Given the description of an element on the screen output the (x, y) to click on. 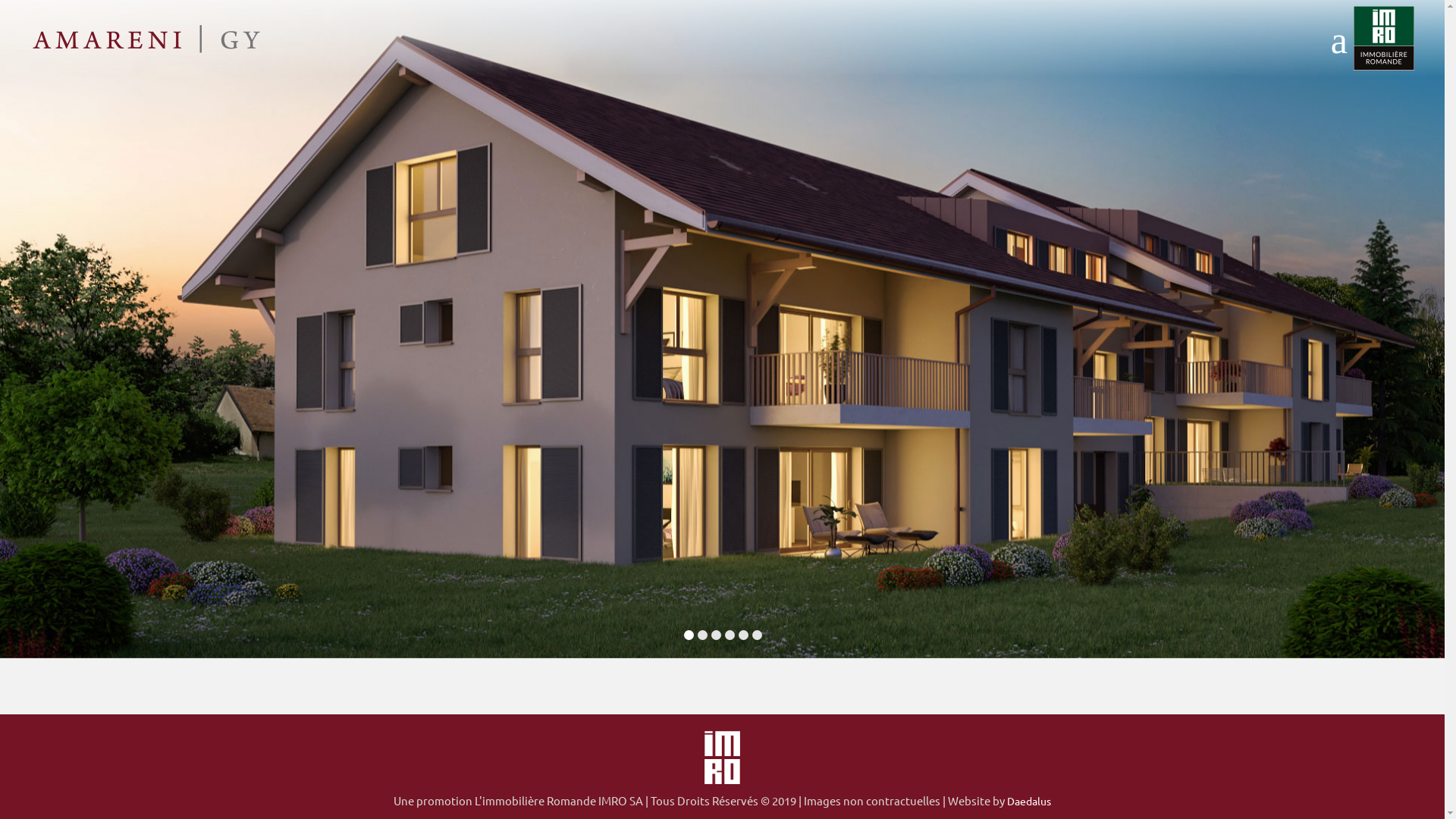
Daedalus Element type: text (1029, 800)
